Given the description of an element on the screen output the (x, y) to click on. 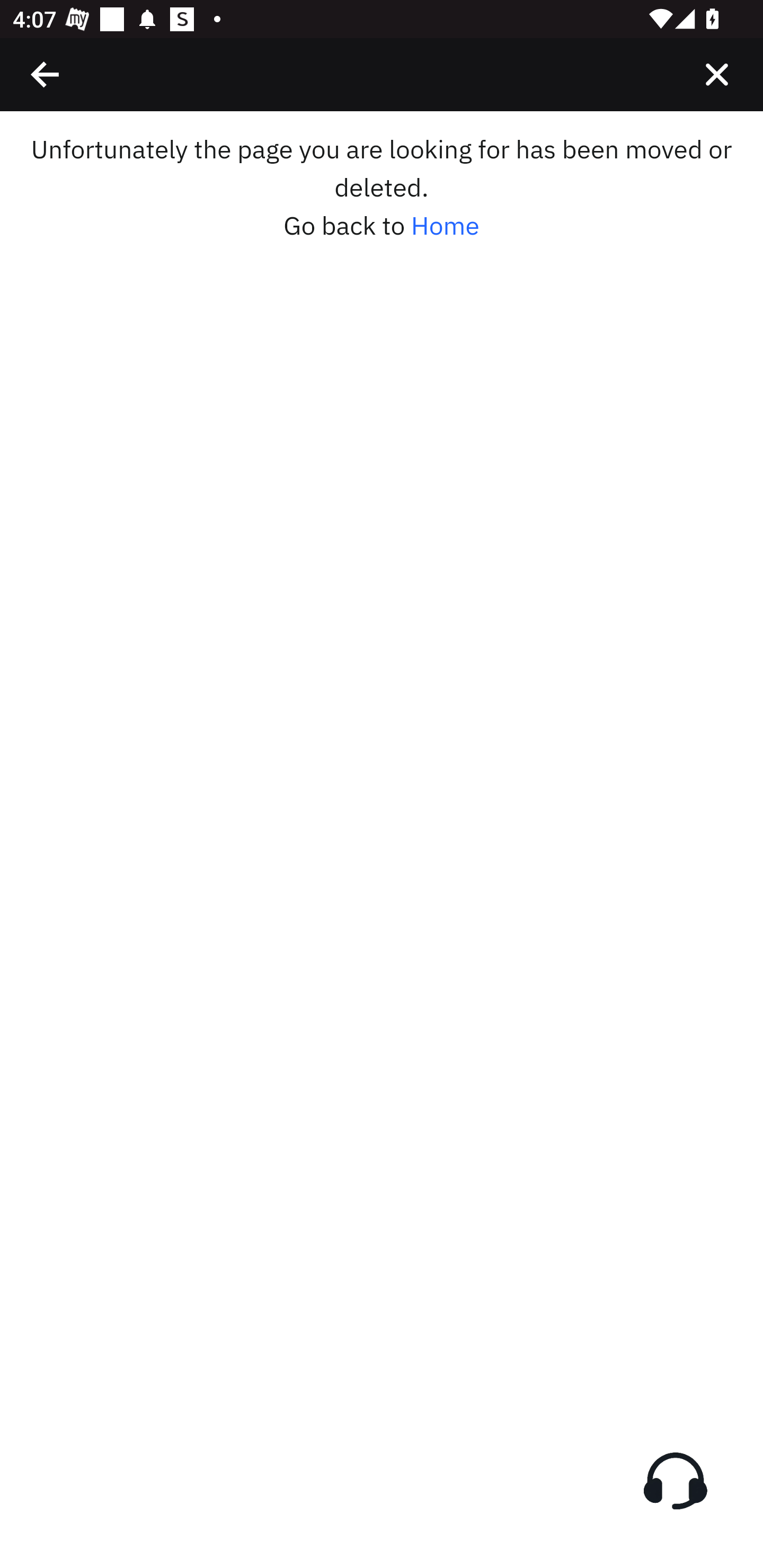
 (46, 74)
 (716, 74)
Home (444, 225)
Nova Your Virtual Assistant! button (674, 1480)
